Given the description of an element on the screen output the (x, y) to click on. 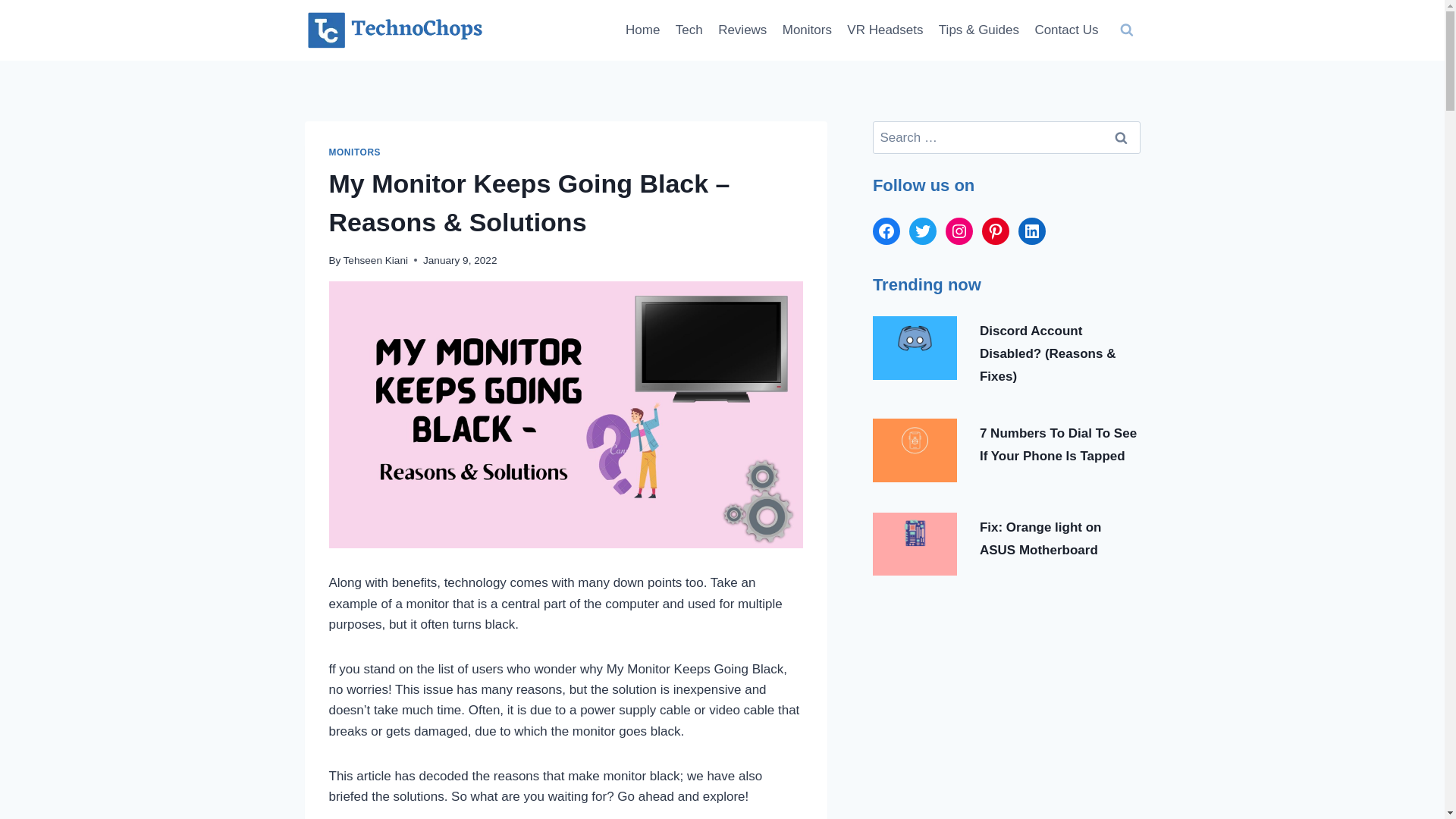
Tech (689, 30)
VR Headsets (885, 30)
Search (1121, 137)
Reviews (742, 30)
MONITORS (355, 152)
Home (642, 30)
Search (1121, 137)
Contact Us (1065, 30)
Monitors (807, 30)
Tehseen Kiani (375, 260)
